Given the description of an element on the screen output the (x, y) to click on. 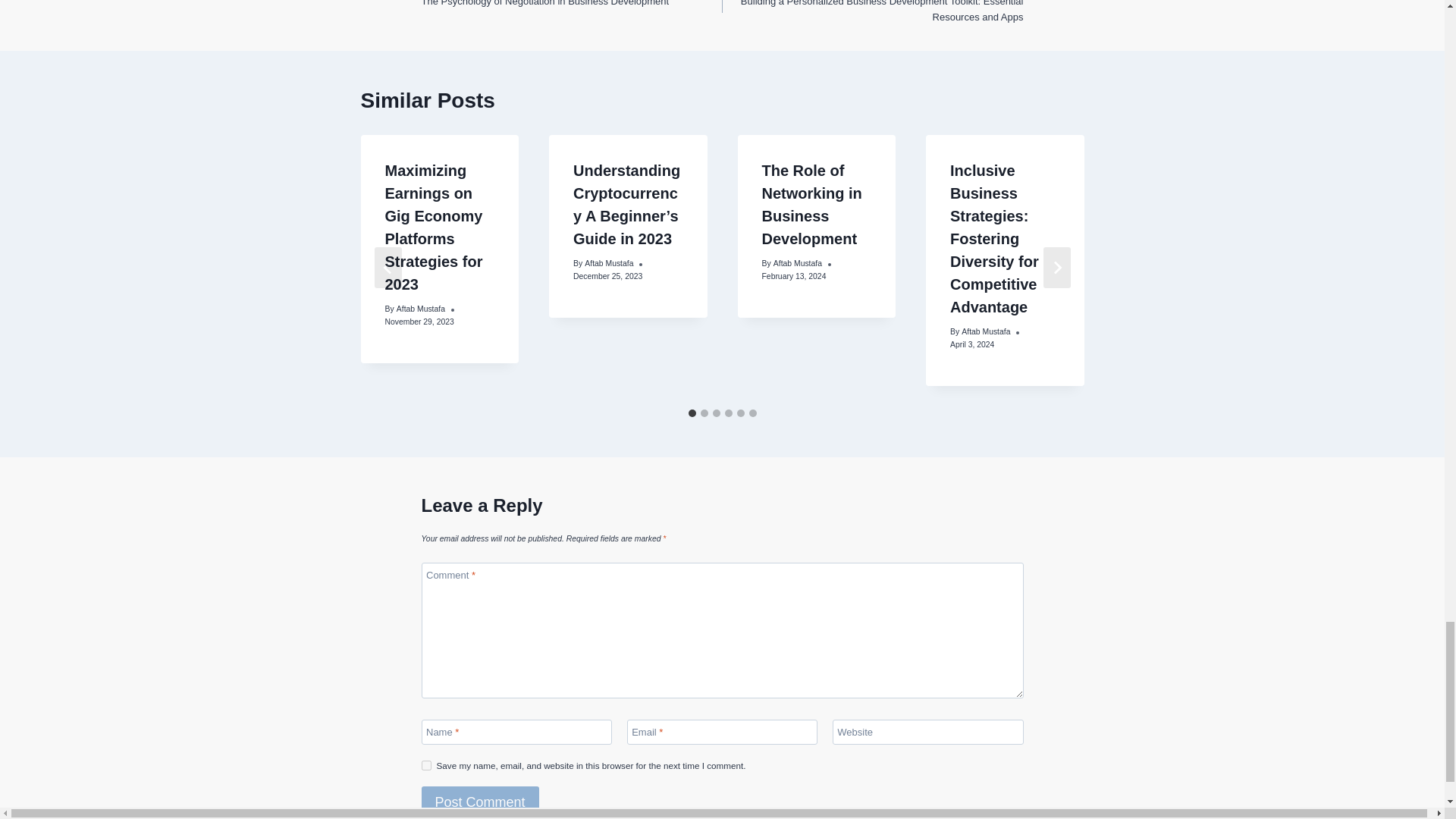
yes (426, 765)
